Given the description of an element on the screen output the (x, y) to click on. 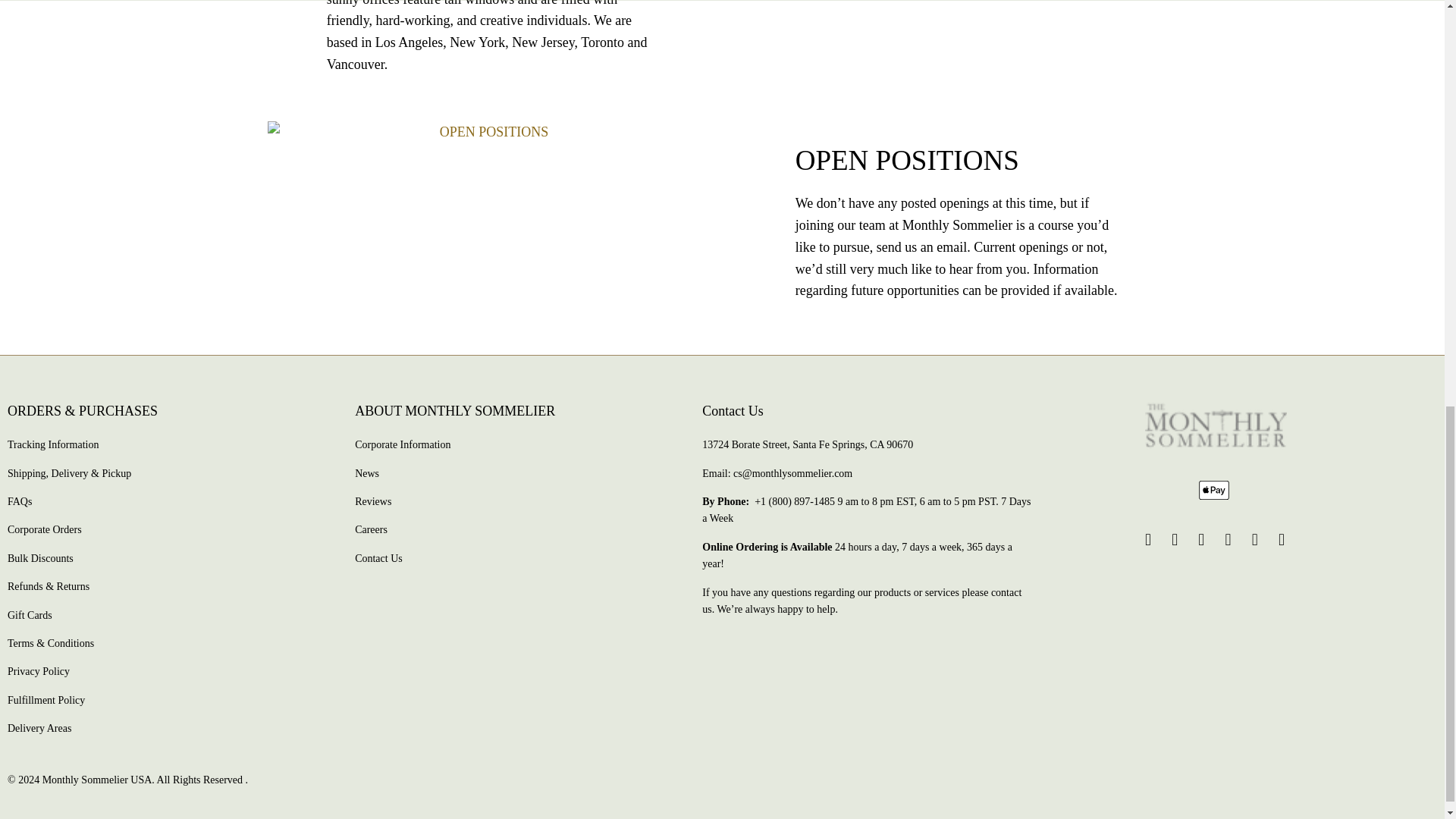
Monthly Sommelier USA on Facebook (1174, 539)
Monthly Sommelier USA on YouTube (1201, 539)
OPEN POSITIONS (486, 132)
Monthly Sommelier USA on Twitter (1148, 539)
Monthly Sommelier USA on Snapchat (1282, 539)
Monthly Sommelier USA on Pinterest (1228, 539)
Monthly Sommelier USA on Instagram (1254, 539)
